Given the description of an element on the screen output the (x, y) to click on. 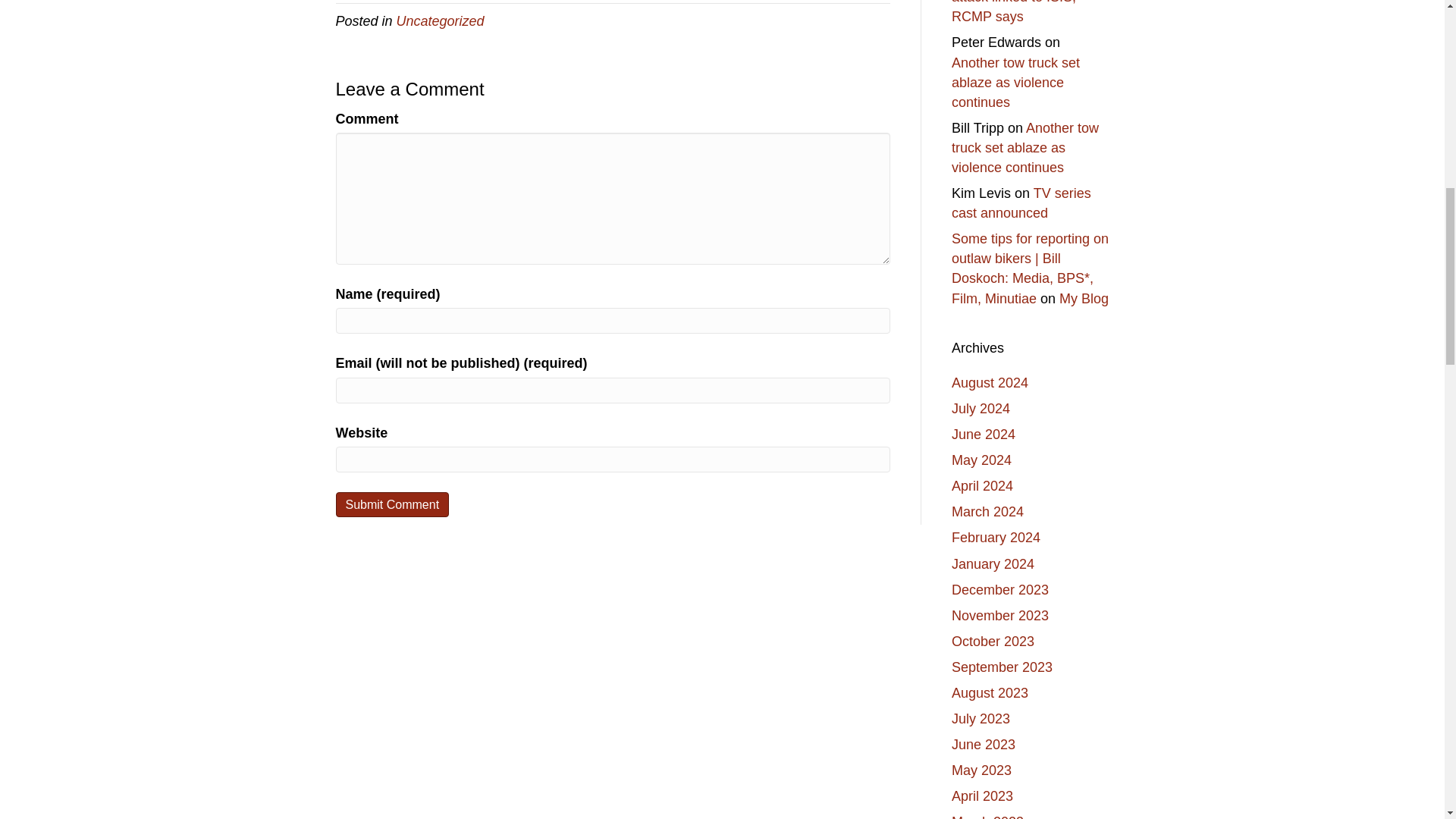
Uncategorized (440, 20)
June 2024 (983, 434)
April 2024 (982, 485)
Another tow truck set ablaze as violence continues (1016, 82)
My Blog (1083, 298)
TV series cast announced (1021, 202)
May 2024 (981, 459)
March 2024 (987, 511)
July 2024 (981, 408)
Submit Comment (391, 504)
